Given the description of an element on the screen output the (x, y) to click on. 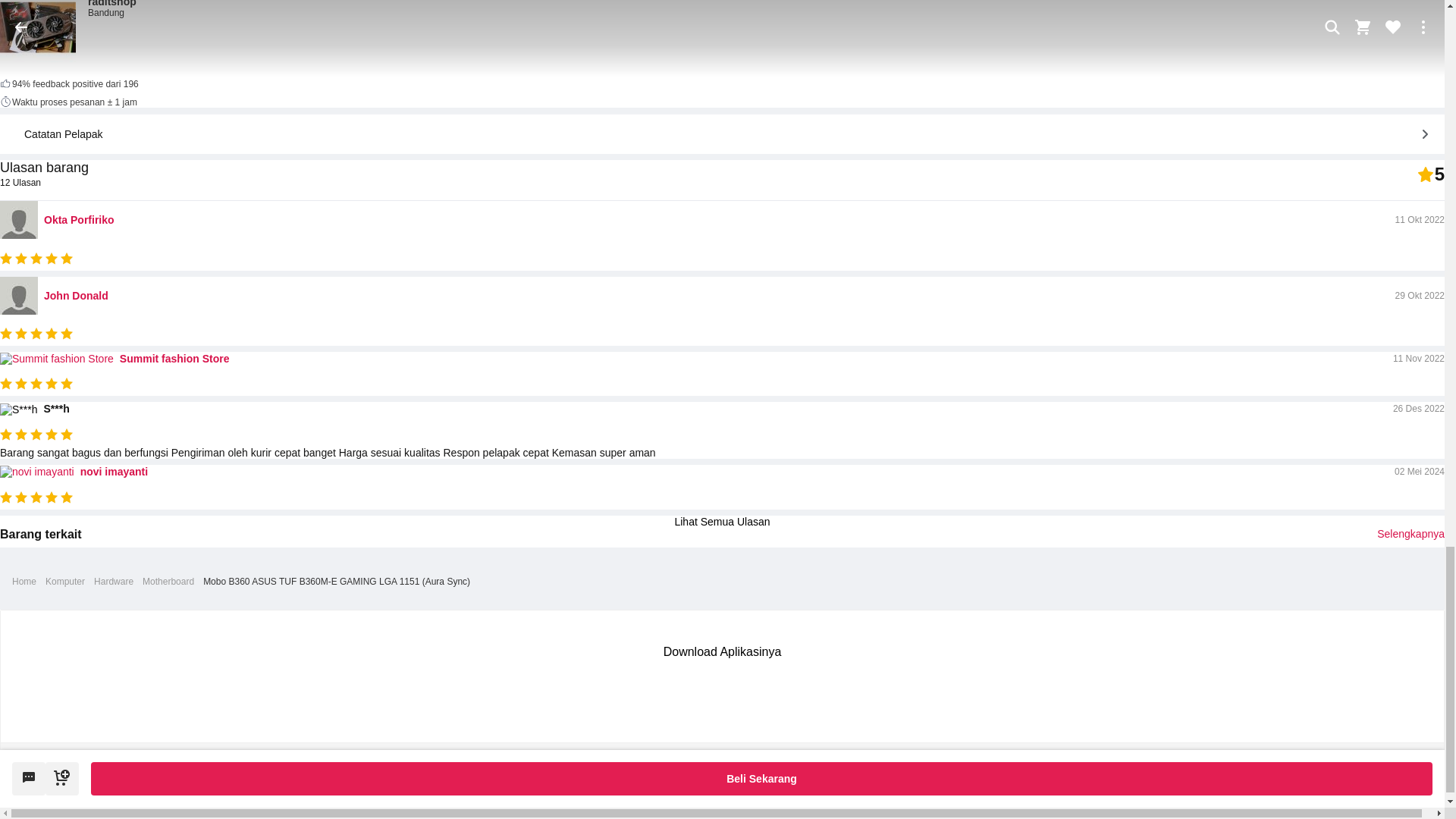
Liputan 6 (755, 781)
raditshop (111, 3)
Home (23, 581)
Okta Porfiriko (79, 219)
Download BL apps for Android on Google Playstore (674, 691)
Bandung (111, 12)
Komputer (64, 581)
Summit fashion Store (174, 358)
John Donald (75, 295)
Iphone (765, 691)
Blog (724, 781)
Motherboard (167, 581)
Hardware (113, 581)
novi imayanti (114, 471)
Download BL apps for iOS on App Store (765, 691)
